Given the description of an element on the screen output the (x, y) to click on. 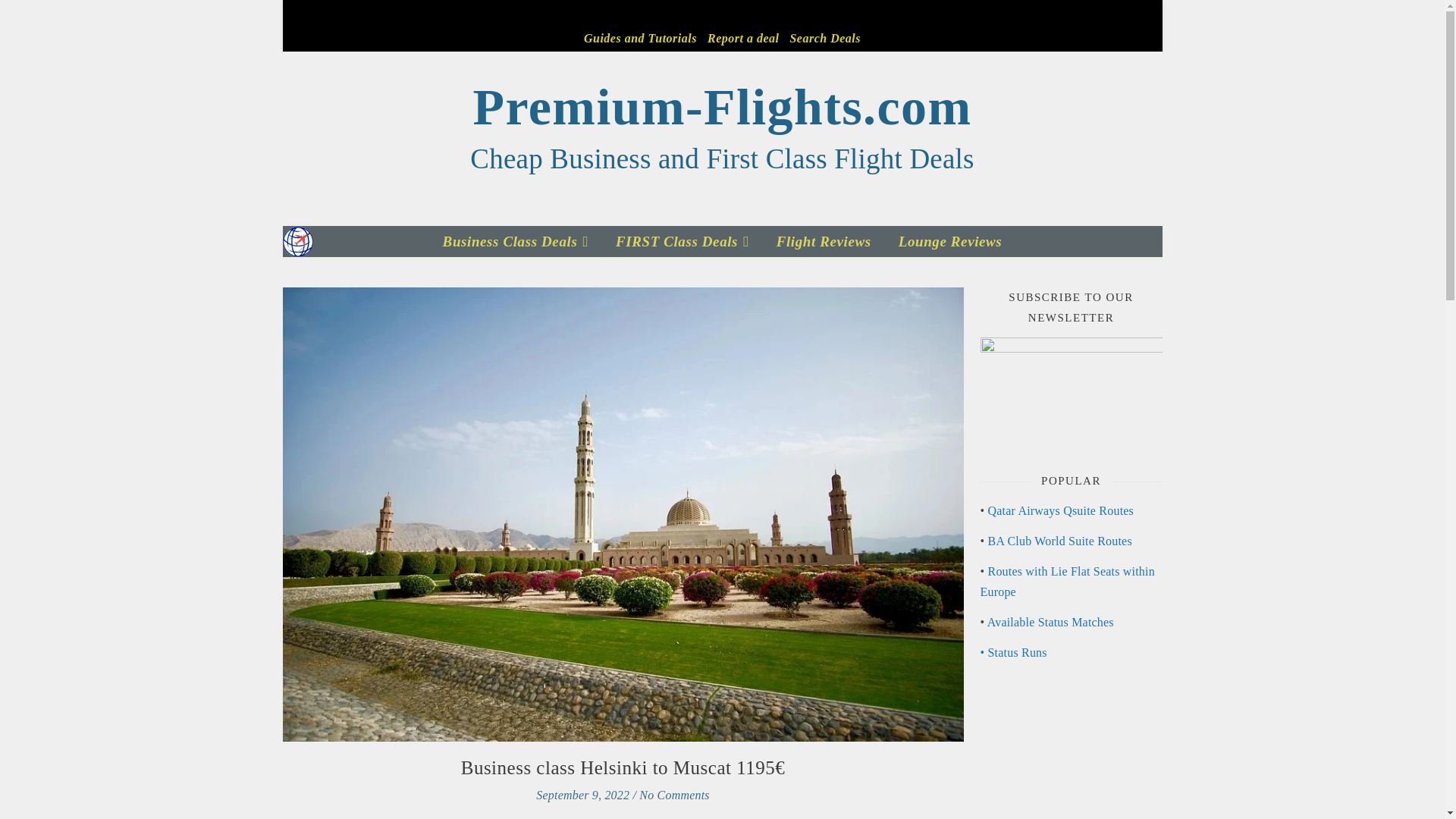
Search Deals (823, 38)
FIRST Class Deals (682, 241)
Guides and Tutorials (641, 38)
Lounge Reviews (944, 241)
tar (1008, 510)
Flight Reviews (823, 241)
Routes with Lie Flat Seats within Europe (1066, 581)
Airways Qsuite Routes (1074, 510)
Business Class Deals (520, 241)
Premium-Flights.com (722, 106)
